Given the description of an element on the screen output the (x, y) to click on. 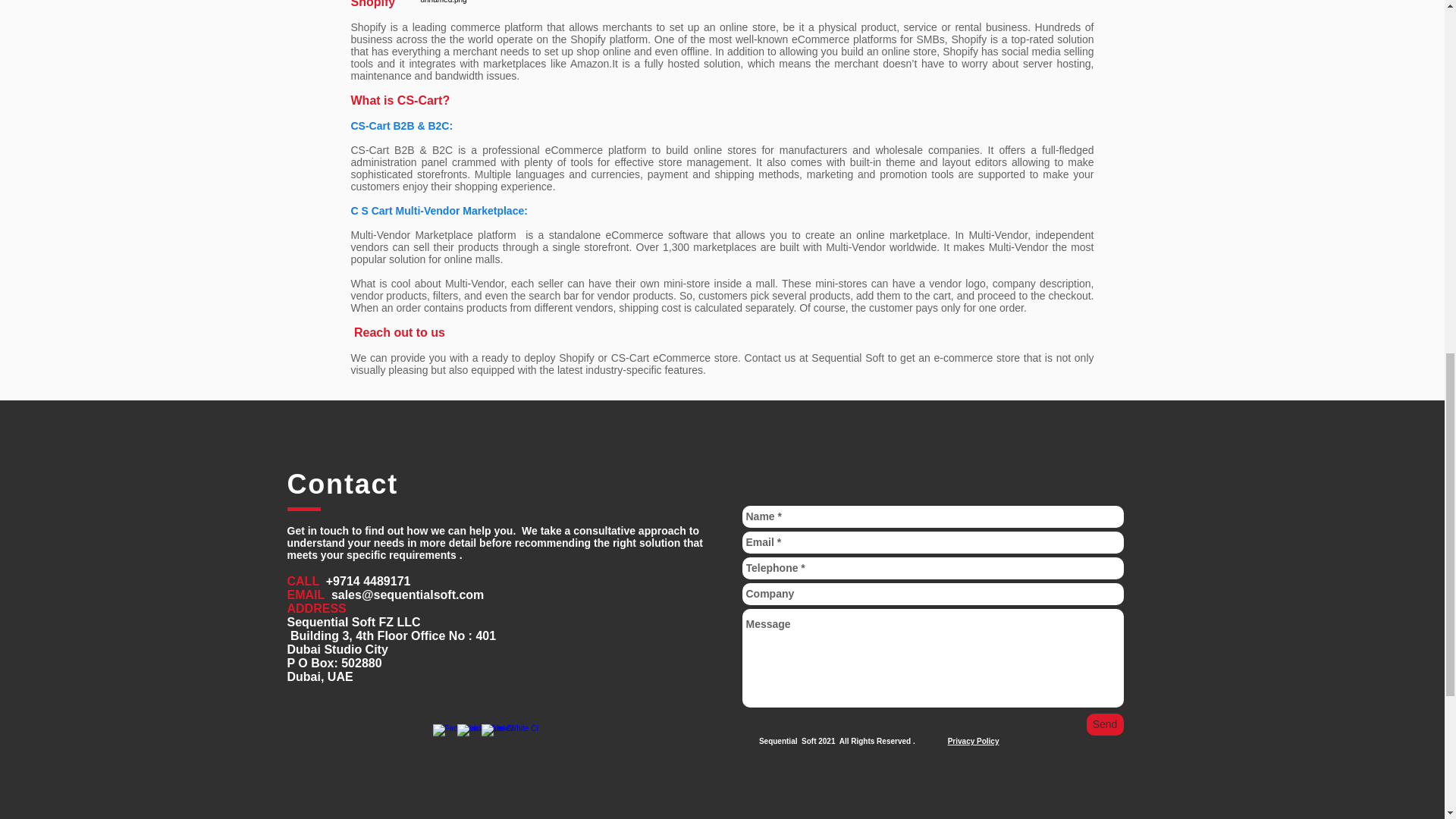
Privacy Policy (972, 741)
P O Box: 502880 (333, 662)
Send (1104, 724)
sales (346, 594)
Sequential  Soft 2021  All Rights Reserved .  (837, 741)
Dubai Studio City (336, 649)
 Building 3, 4th Floor Office No : 401 (391, 635)
